Given the description of an element on the screen output the (x, y) to click on. 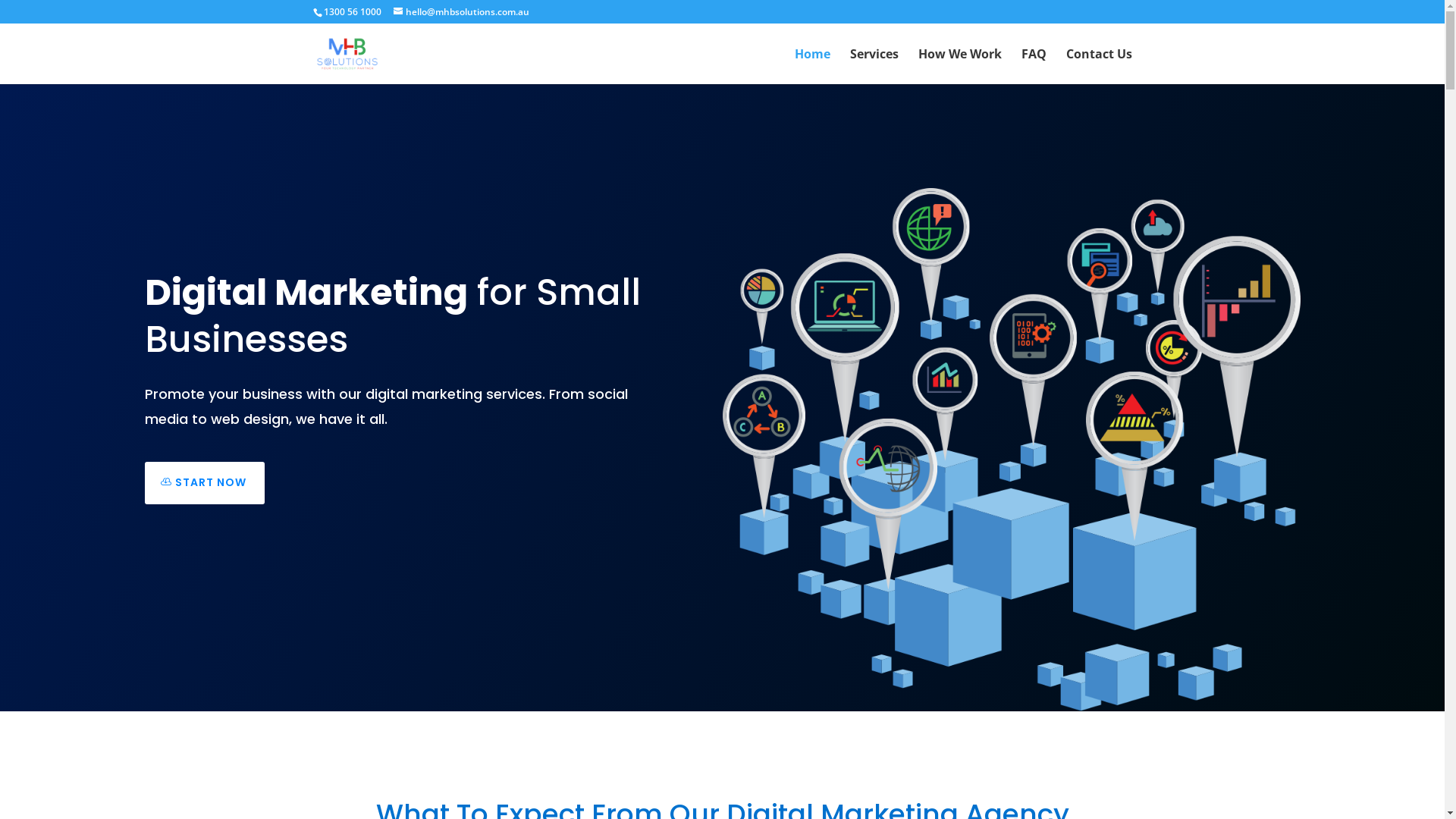
START NOW Element type: text (203, 482)
Home Element type: text (812, 66)
How We Work Element type: text (959, 66)
Contact Us Element type: text (1099, 66)
Services Element type: text (873, 66)
FAQ Element type: text (1032, 66)
hello@mhbsolutions.com.au Element type: text (460, 11)
